Given the description of an element on the screen output the (x, y) to click on. 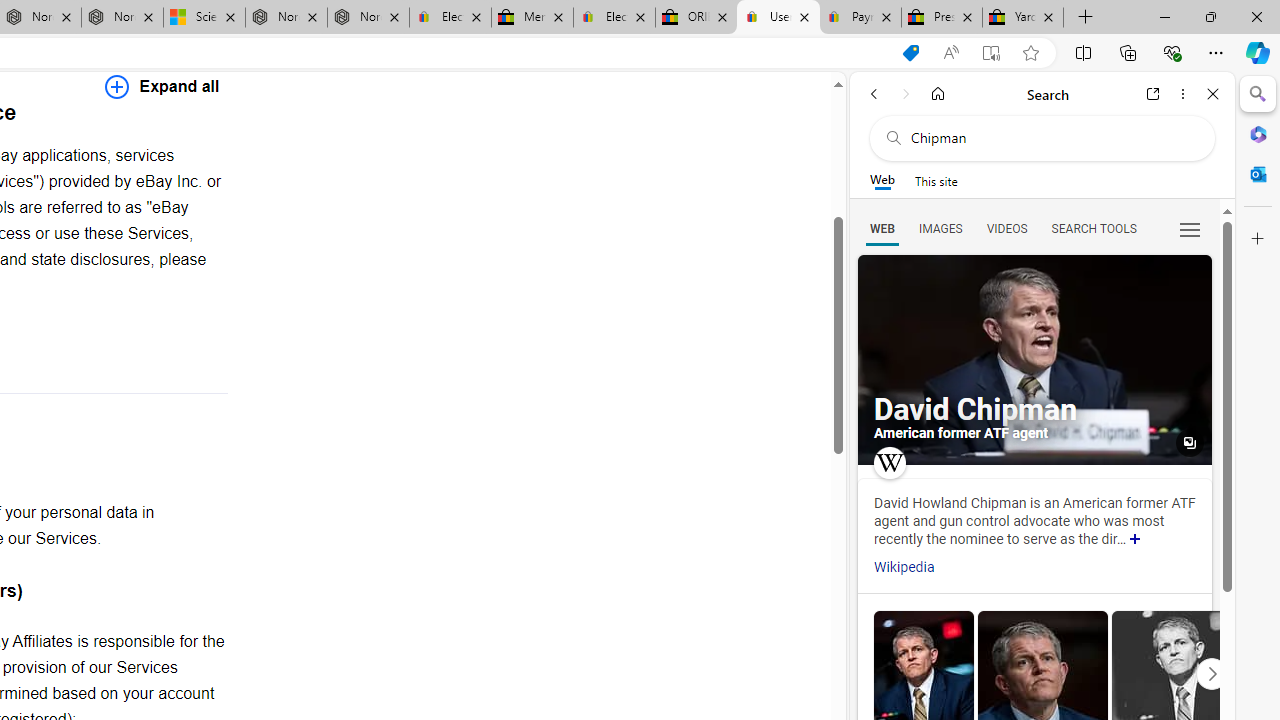
All images (1034, 359)
All images (1190, 443)
Show more (1135, 539)
Forward (906, 93)
SEARCH TOOLS (1093, 228)
Search Filter, VIDEOS (1006, 228)
Wikipedia (904, 567)
Expand all (162, 86)
Search Filter, WEB (882, 228)
